Given the description of an element on the screen output the (x, y) to click on. 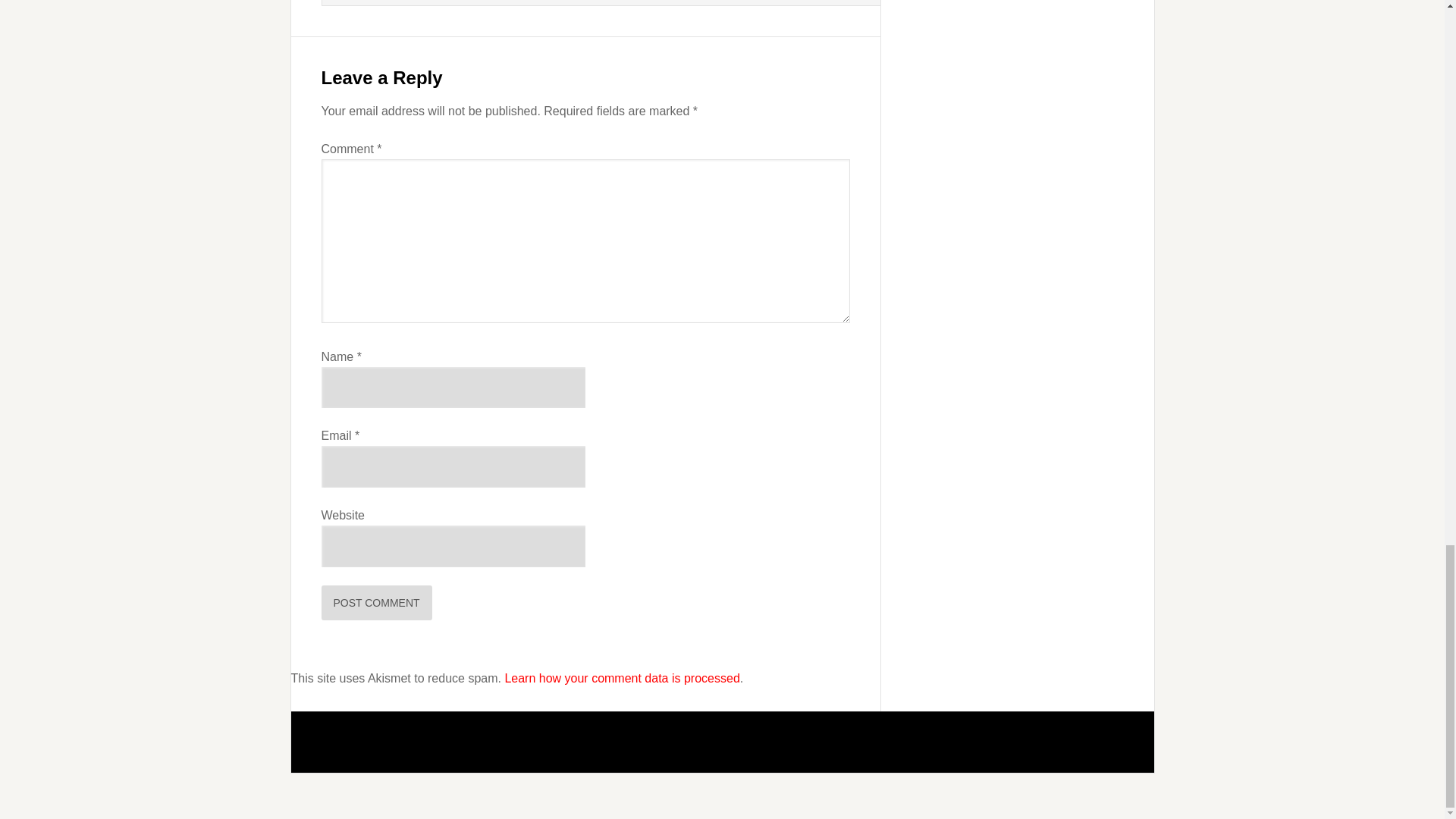
Post Comment (376, 602)
Post Comment (376, 602)
Learn how your comment data is processed (621, 677)
